Given the description of an element on the screen output the (x, y) to click on. 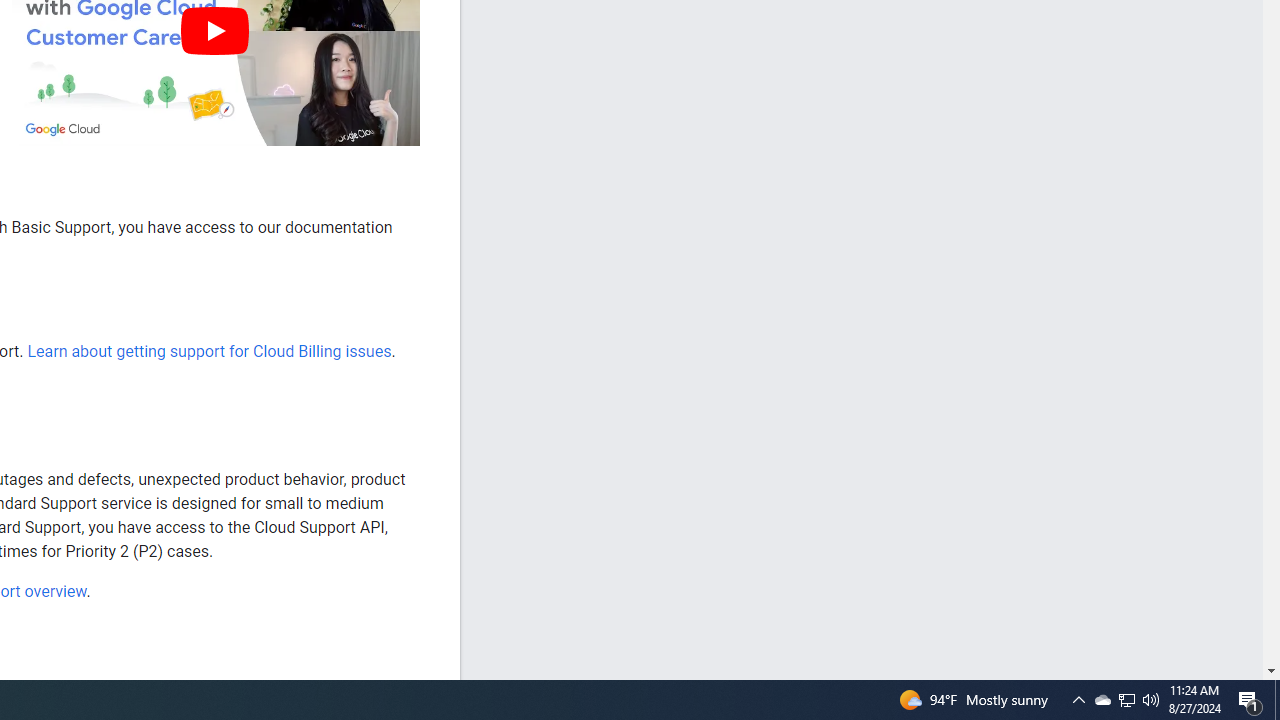
Learn about getting support for Cloud Billing issues (208, 351)
Play (214, 29)
